Given the description of an element on the screen output the (x, y) to click on. 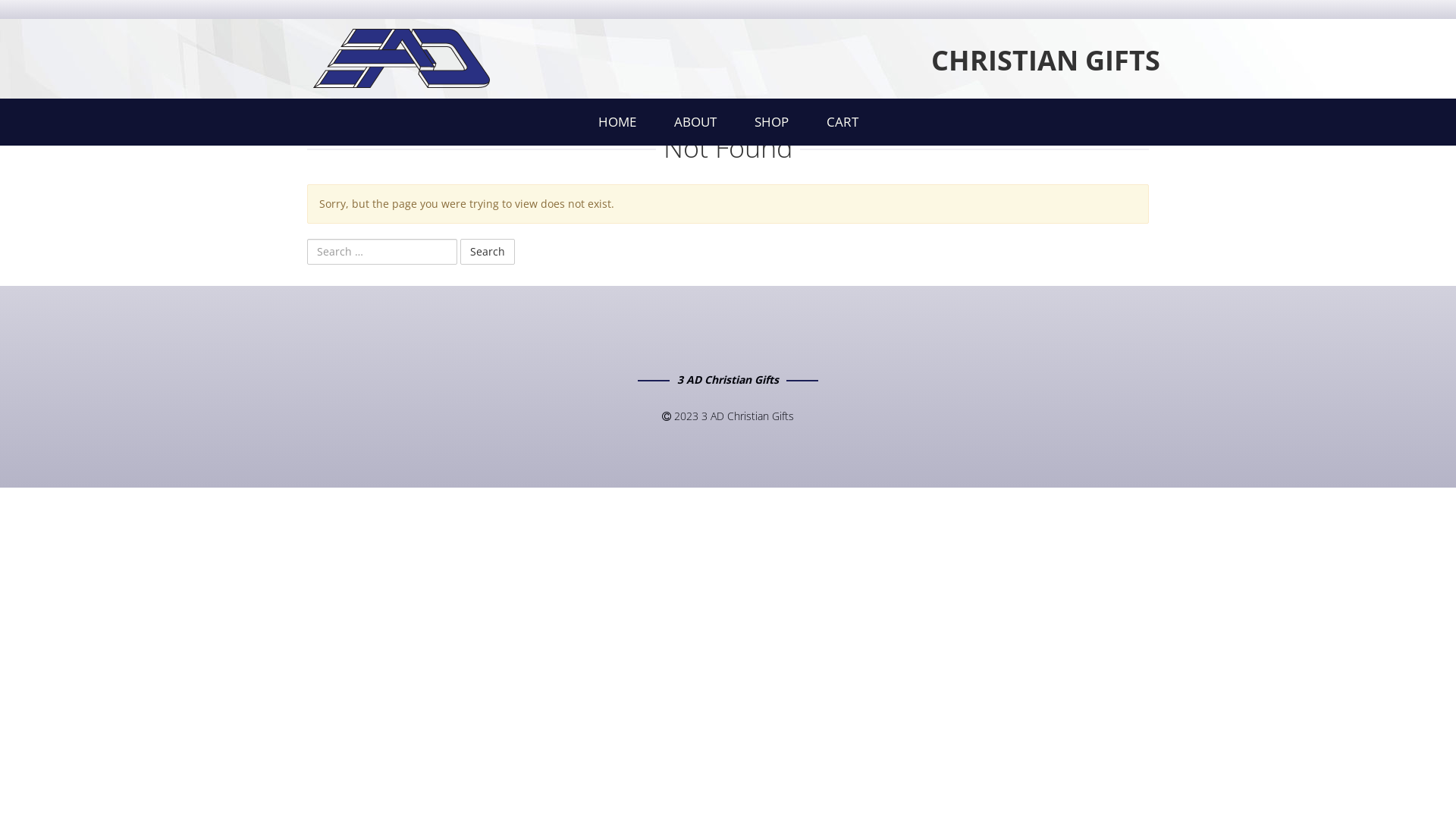
3 AD Christian Gifts Element type: text (439, 58)
ABOUT Element type: text (695, 121)
SHOP Element type: text (771, 121)
Search Element type: text (487, 251)
CART Element type: text (841, 121)
HOME Element type: text (616, 121)
